Given the description of an element on the screen output the (x, y) to click on. 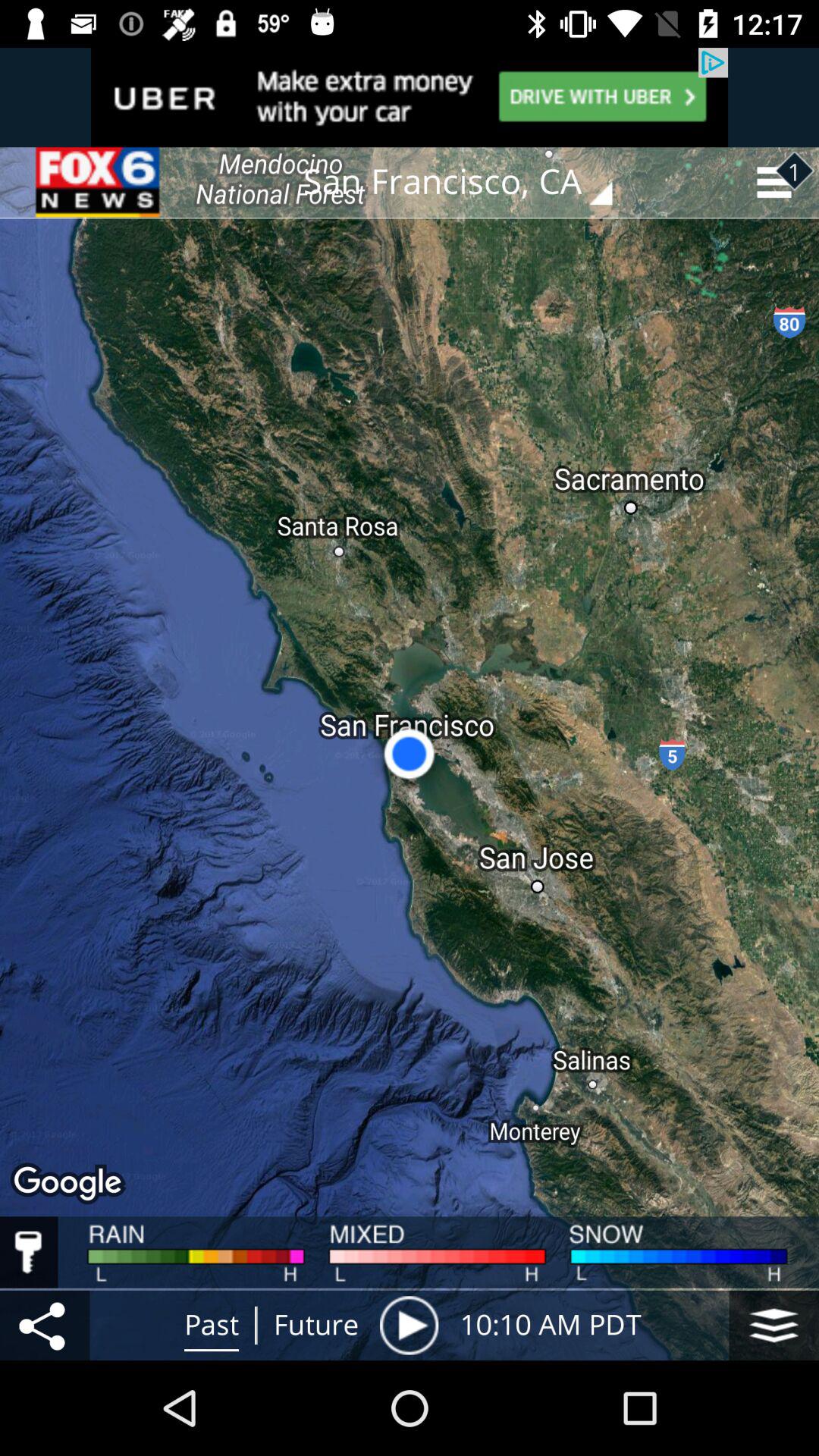
click icon to the left of san francisco, ca (99, 182)
